Given the description of an element on the screen output the (x, y) to click on. 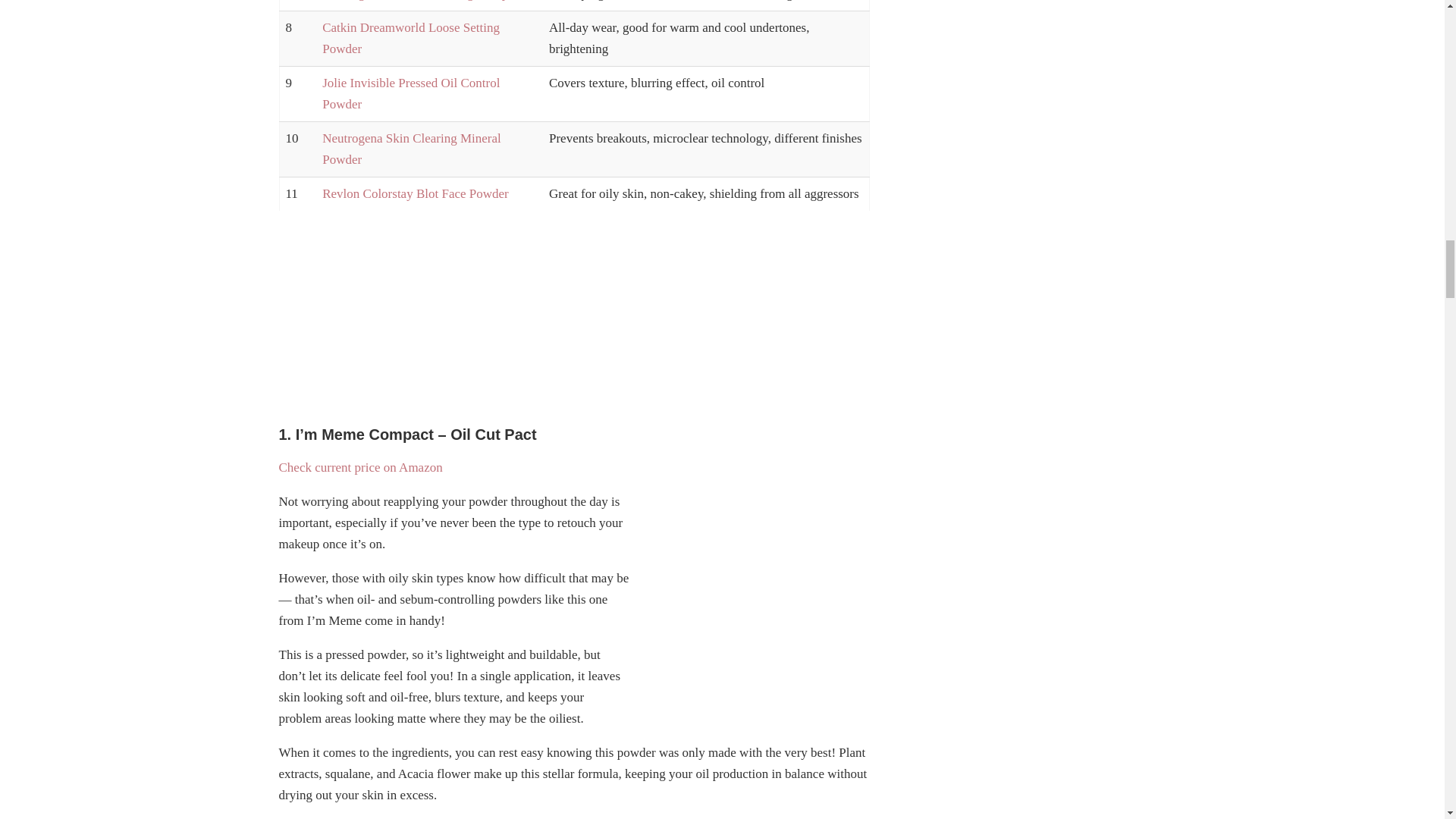
Neutrogena Skin Clearing Mineral Powder (410, 149)
Catkin Dreamworld Loose Setting Powder (410, 38)
Jolie Invisible Pressed Oil Control Powder (410, 93)
